Given the description of an element on the screen output the (x, y) to click on. 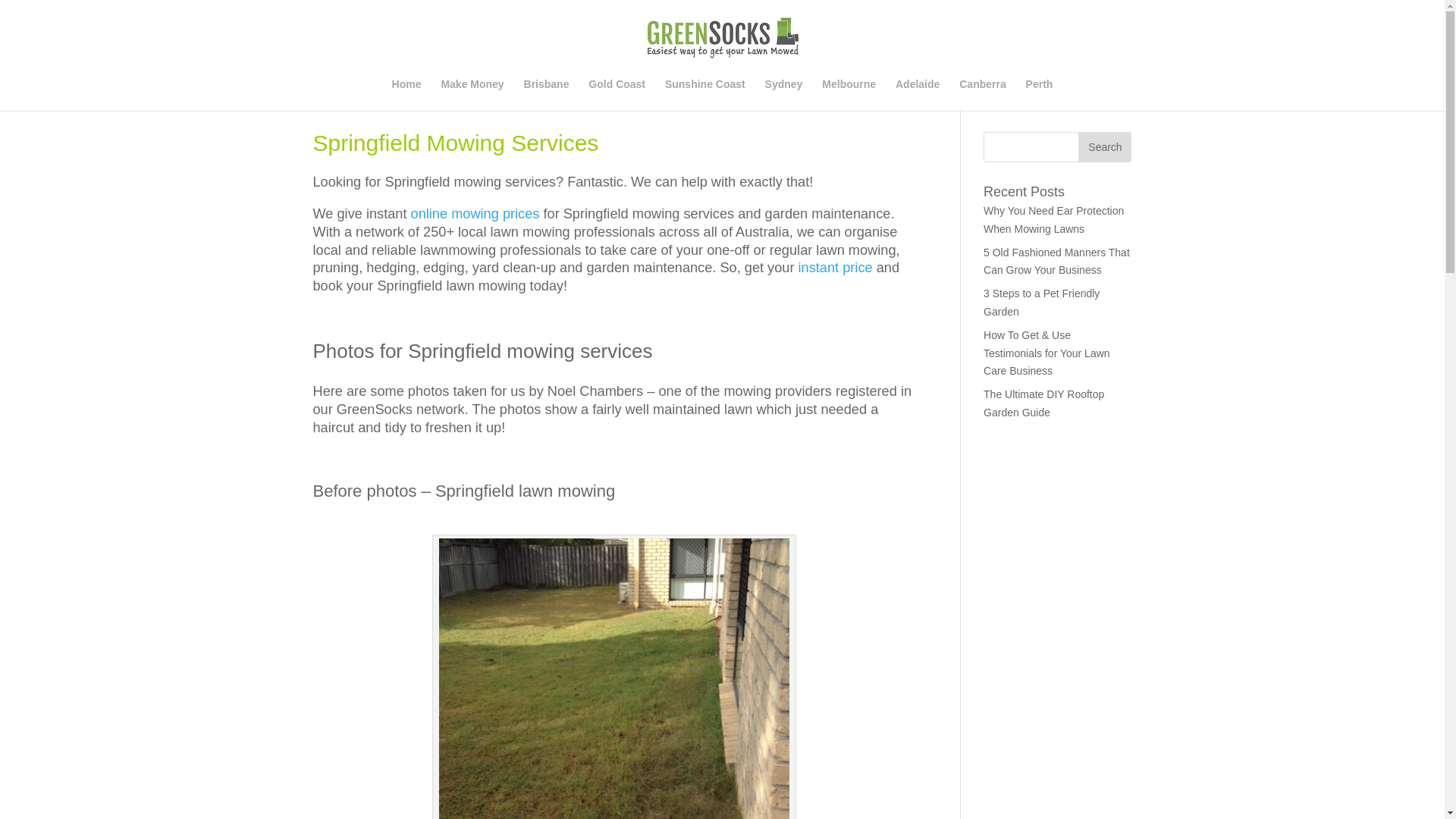
Canberra Element type: text (982, 94)
Home Element type: text (406, 94)
How To Get & Use Testimonials for Your Lawn Care Business Element type: text (1046, 353)
Why You Need Ear Protection When Mowing Lawns Element type: text (1053, 219)
Search Element type: text (1104, 146)
Sydney Element type: text (784, 94)
Perth Element type: text (1039, 94)
Gold Coast Element type: text (616, 94)
Brisbane Element type: text (546, 94)
online mowing prices Element type: text (475, 213)
The Ultimate DIY Rooftop Garden Guide Element type: text (1043, 403)
Melbourne Element type: text (848, 94)
Adelaide Element type: text (917, 94)
5 Old Fashioned Manners That Can Grow Your Business Element type: text (1056, 261)
instant price Element type: text (835, 267)
Make Money Element type: text (471, 94)
3 Steps to a Pet Friendly Garden Element type: text (1041, 302)
Sunshine Coast Element type: text (705, 94)
